Given the description of an element on the screen output the (x, y) to click on. 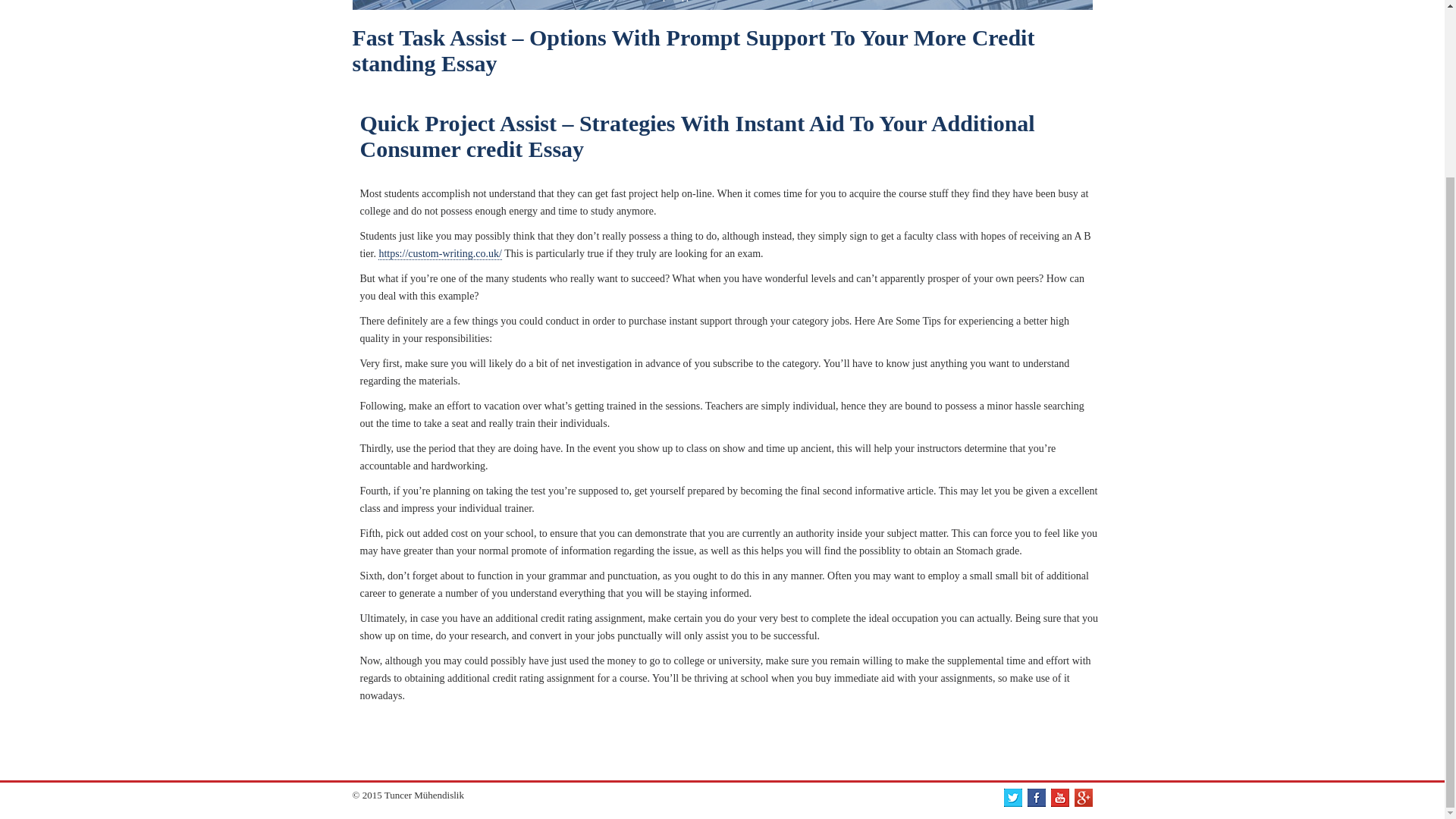
Anasayfa (383, 0)
